Given the description of an element on the screen output the (x, y) to click on. 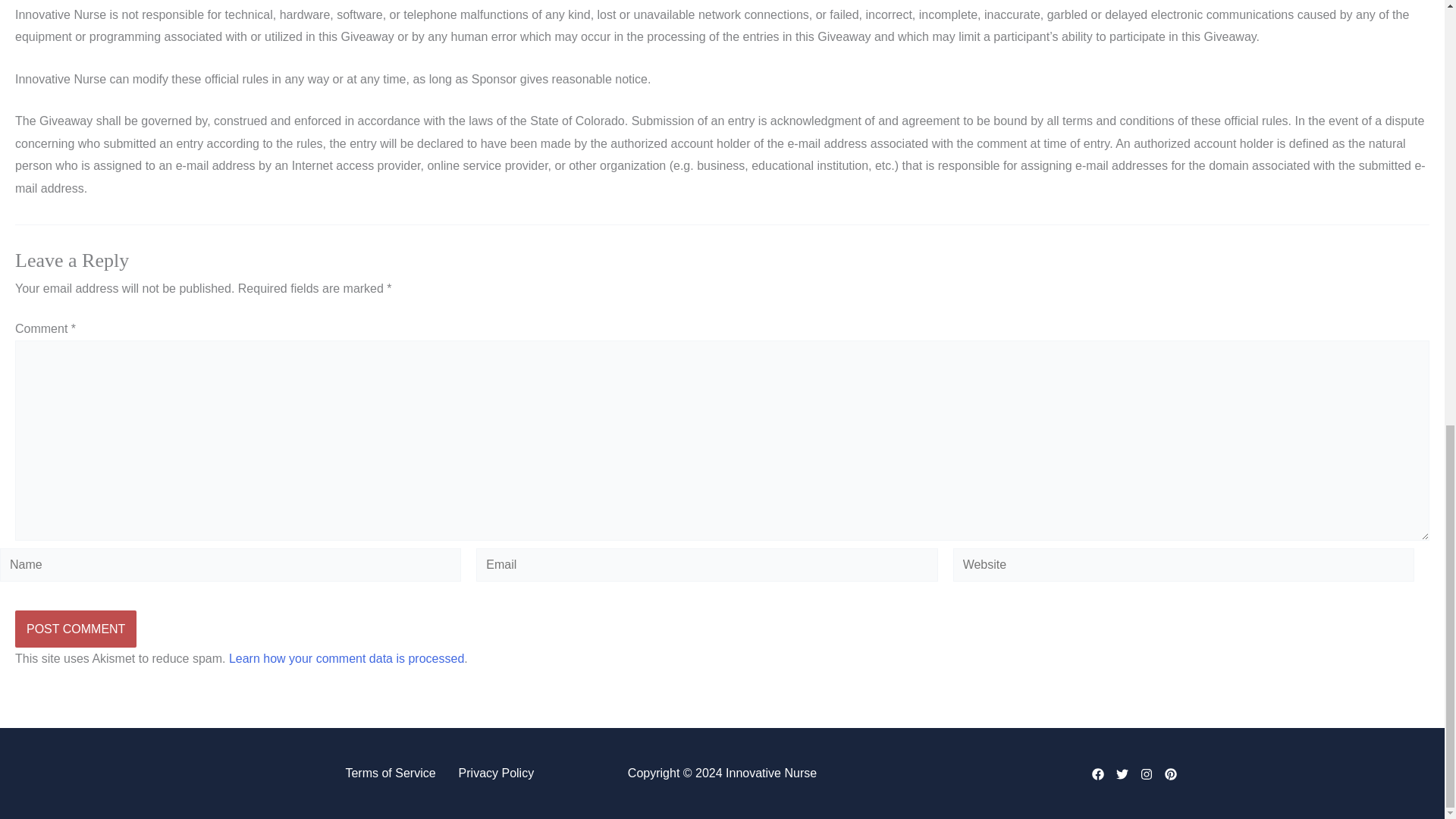
Privacy Policy (496, 773)
Post Comment (75, 629)
Terms of Service (389, 773)
Learn how your comment data is processed (346, 658)
Post Comment (75, 629)
